Given the description of an element on the screen output the (x, y) to click on. 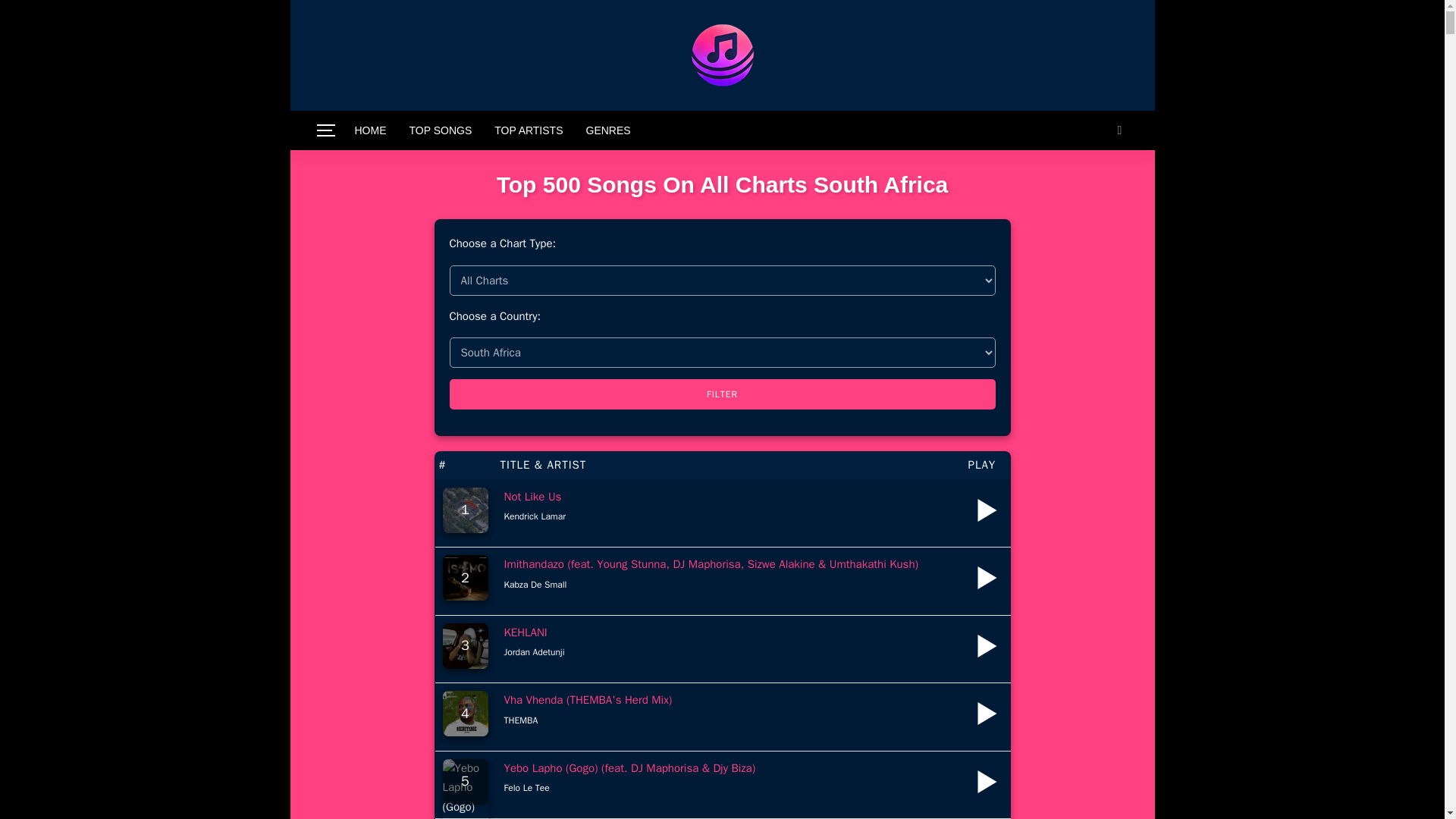
Not Like Us (531, 496)
Jordan Adetunji (533, 652)
Kabza De Small (534, 583)
Filter (721, 394)
TOP ARTISTS (528, 129)
Kendrick Lamar (534, 516)
search (1118, 129)
Jams (721, 54)
THEMBA (520, 720)
Felo Le Tee (525, 787)
TOP SONGS (440, 129)
Filter (721, 394)
GENRES (608, 129)
HOME (369, 129)
KEHLANI (525, 631)
